Given the description of an element on the screen output the (x, y) to click on. 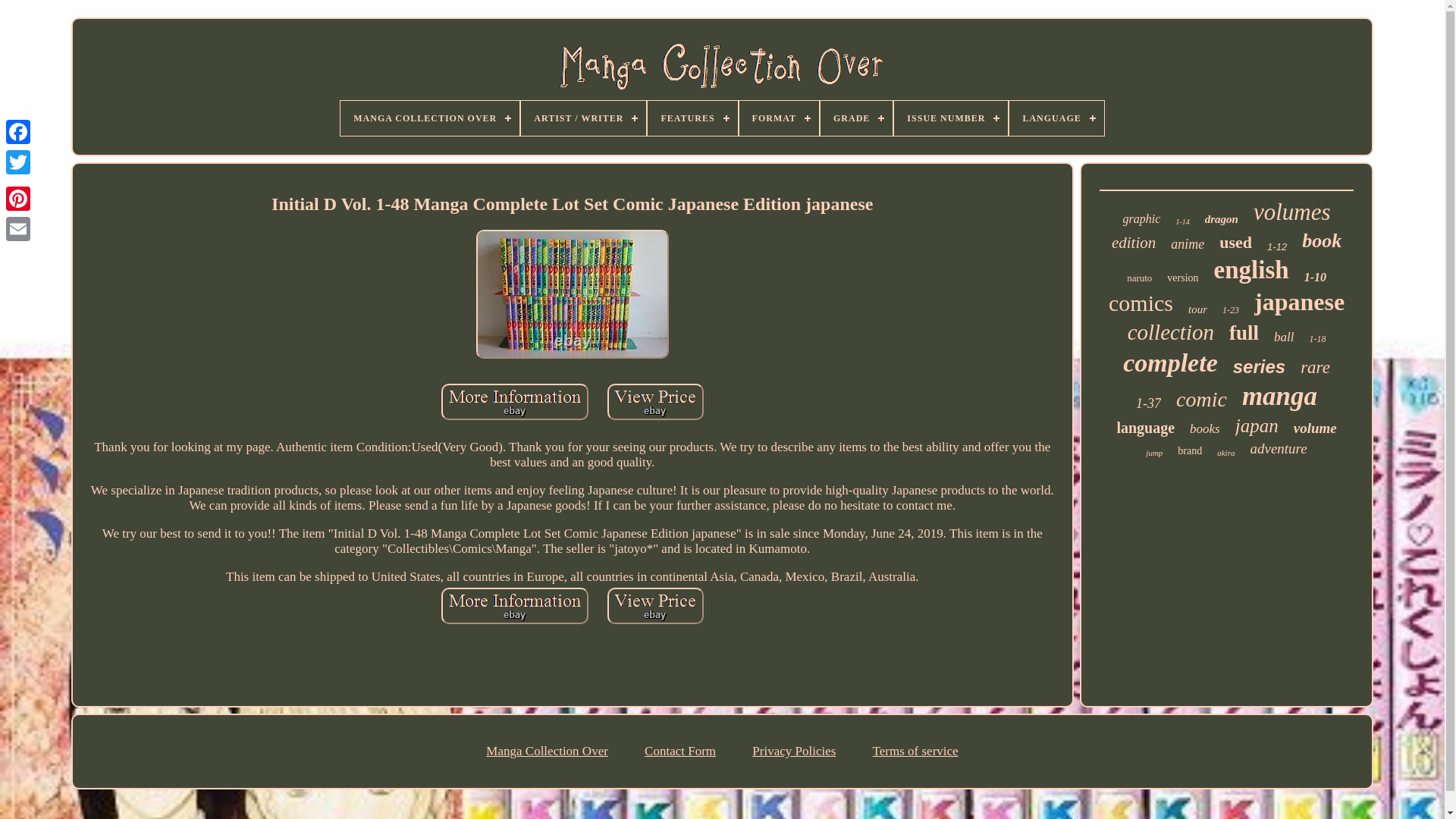
MANGA COLLECTION OVER (429, 117)
FEATURES (691, 117)
